Given the description of an element on the screen output the (x, y) to click on. 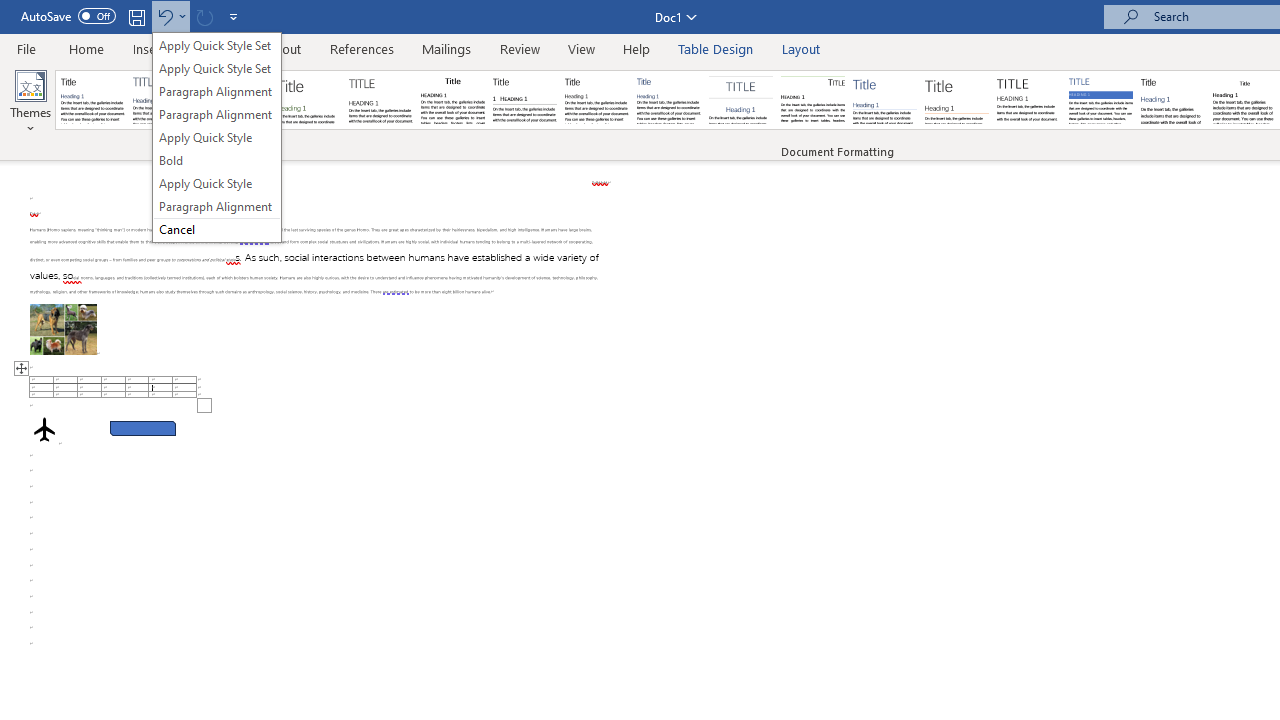
Undo Apply Quick Style Set (164, 15)
Black & White (Numbered) (524, 100)
Black & White (Classic) (452, 100)
Lines (Simple) (884, 100)
Black & White (Capitalized) (381, 100)
